Given the description of an element on the screen output the (x, y) to click on. 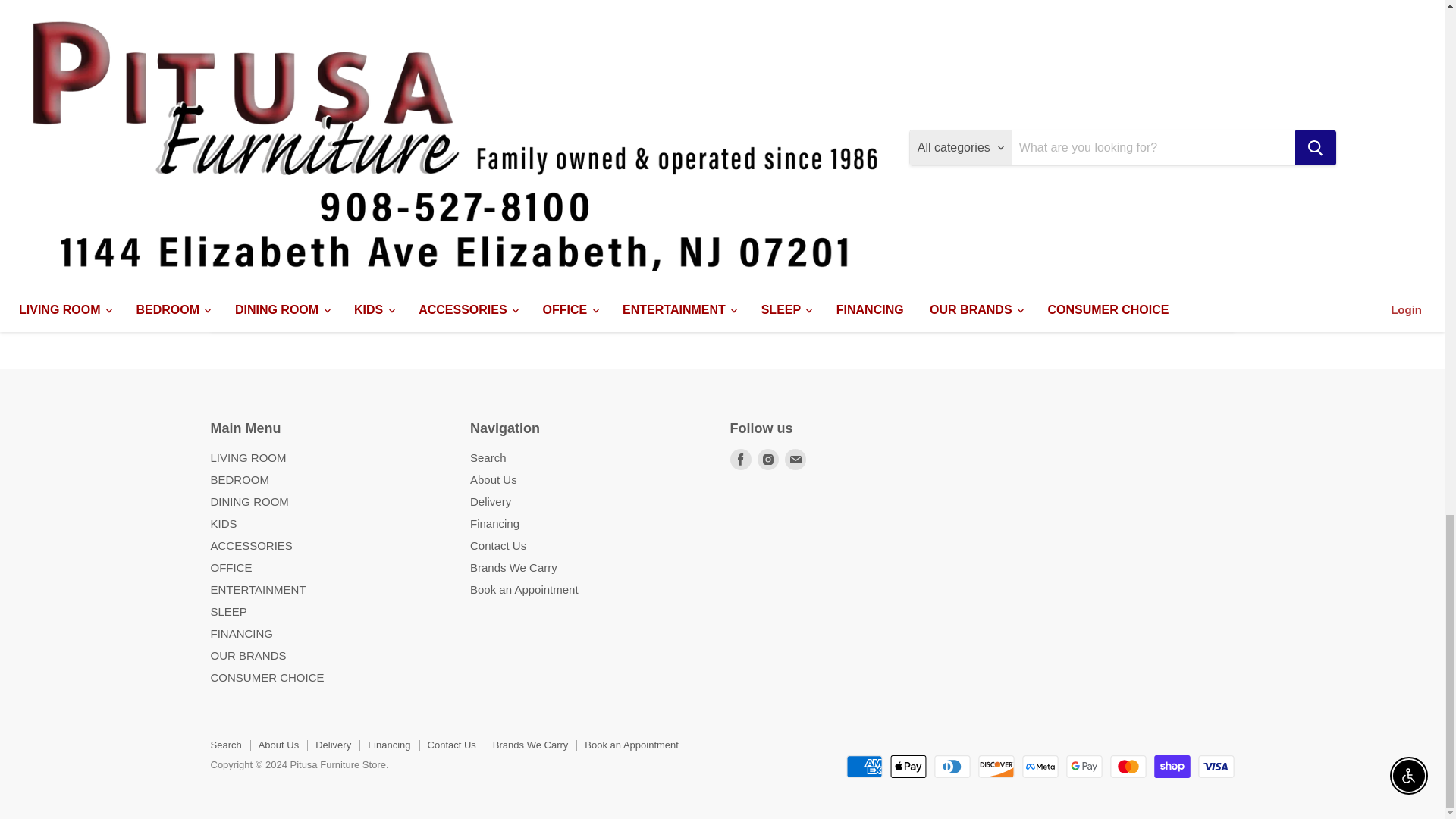
Ashley Furniture (1089, 197)
Instagram (767, 459)
Ashley Furniture (881, 240)
E-mail (794, 459)
Facebook (740, 459)
Ashley Furniture (466, 188)
Ashley Furniture (258, 179)
Ashley Furniture (674, 143)
